Given the description of an element on the screen output the (x, y) to click on. 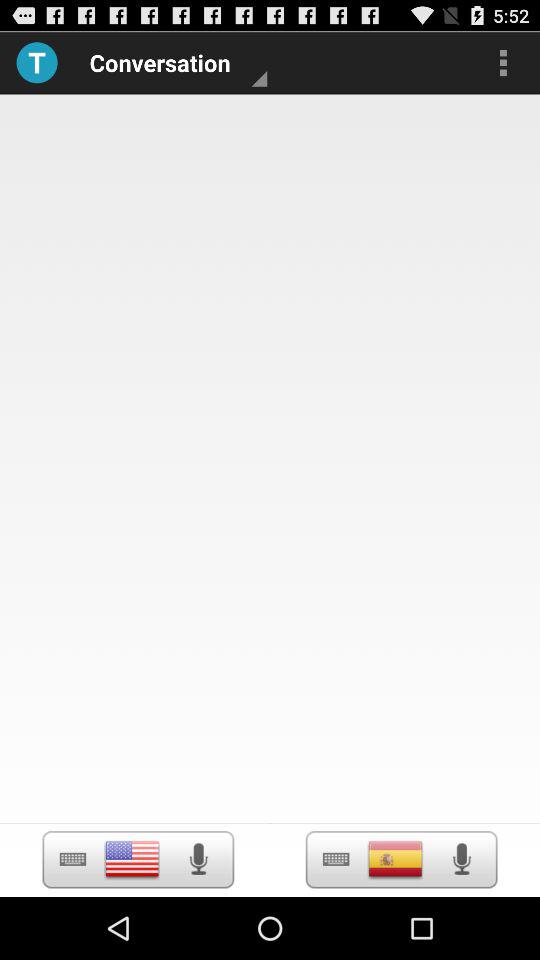
voice recording (461, 859)
